Given the description of an element on the screen output the (x, y) to click on. 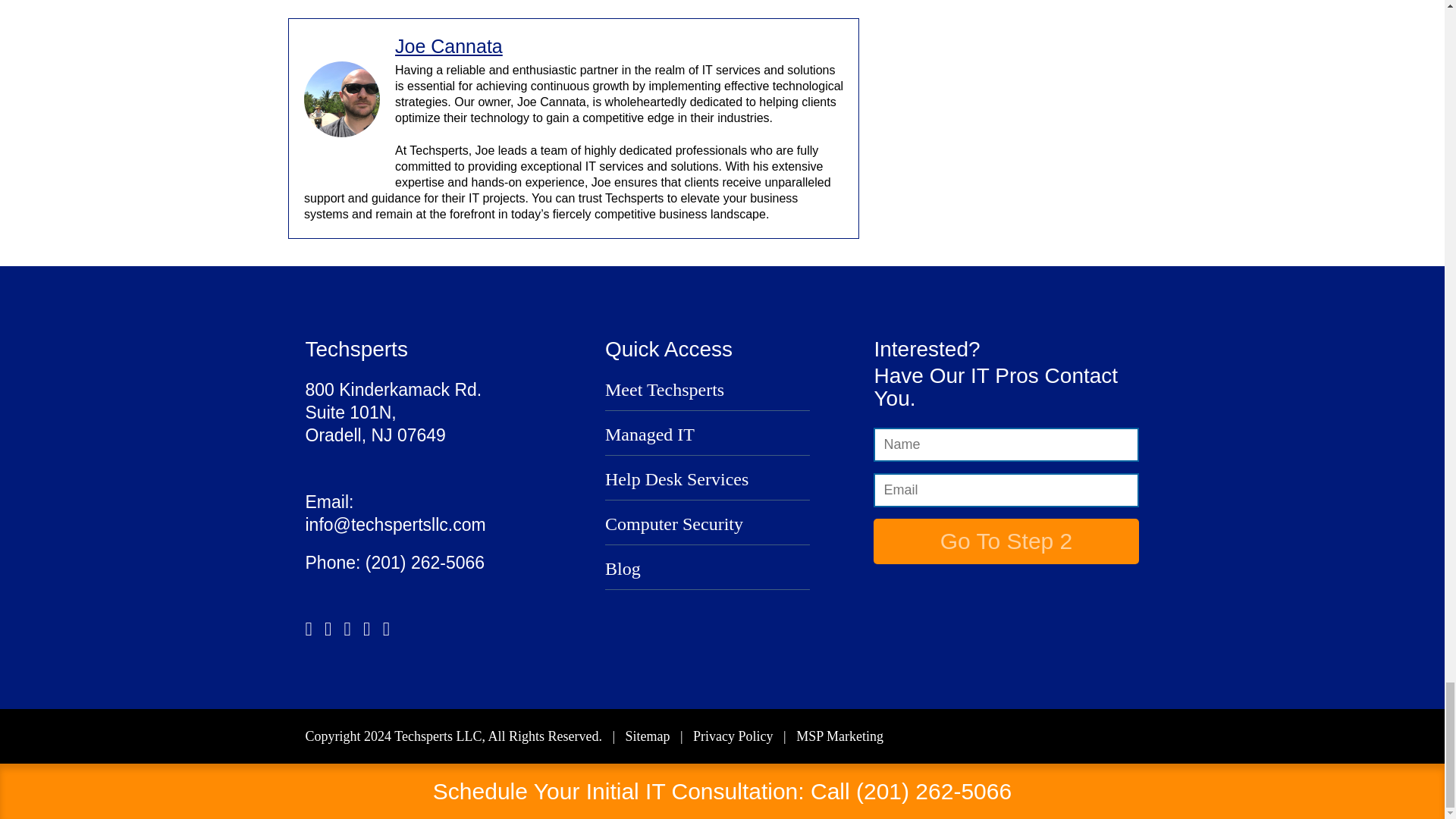
Joe Cannata (448, 46)
Go to Step 2 (1005, 541)
